Given the description of an element on the screen output the (x, y) to click on. 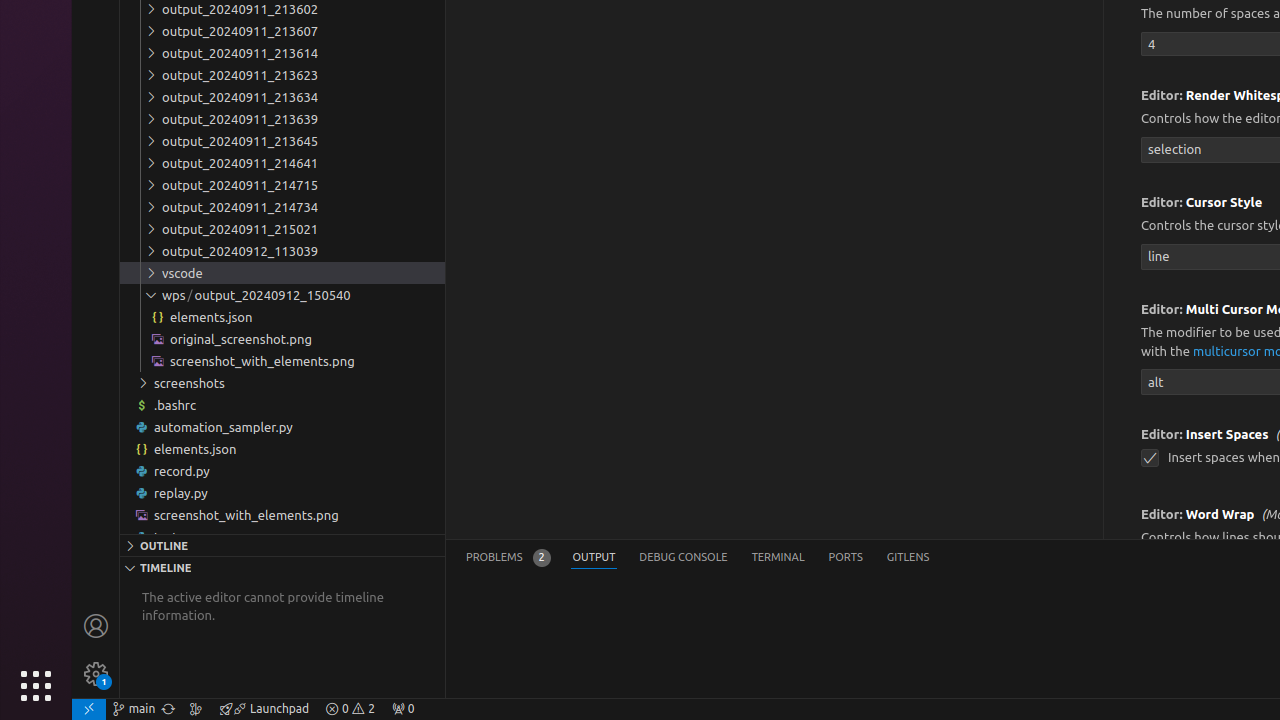
screenshots Element type: tree-item (282, 383)
output_20240911_213634 Element type: tree-item (282, 97)
output_20240912_150540 Element type: tree-item (282, 295)
Outline Section Element type: push-button (282, 545)
